Given the description of an element on the screen output the (x, y) to click on. 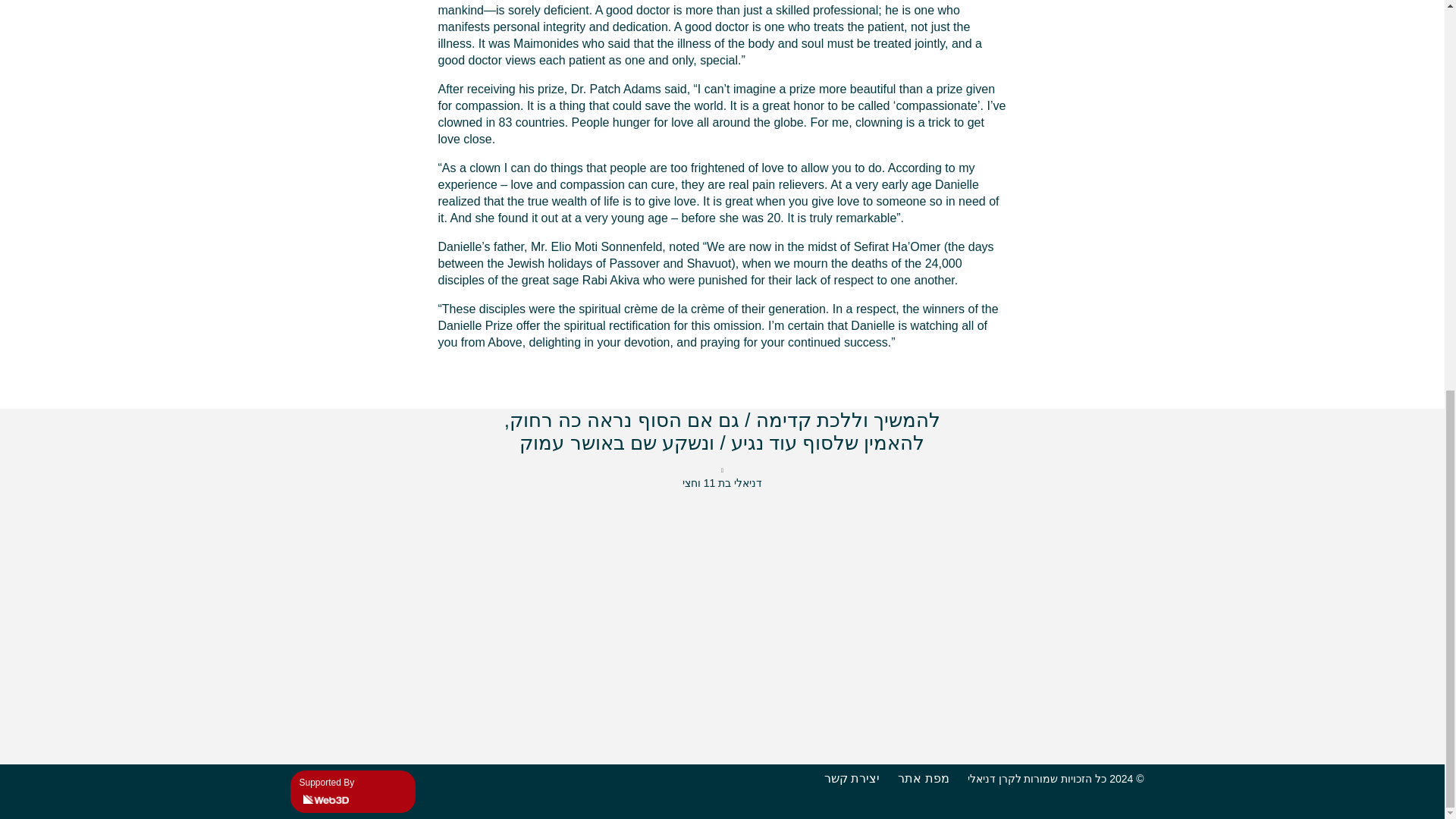
Supported By (351, 791)
